Given the description of an element on the screen output the (x, y) to click on. 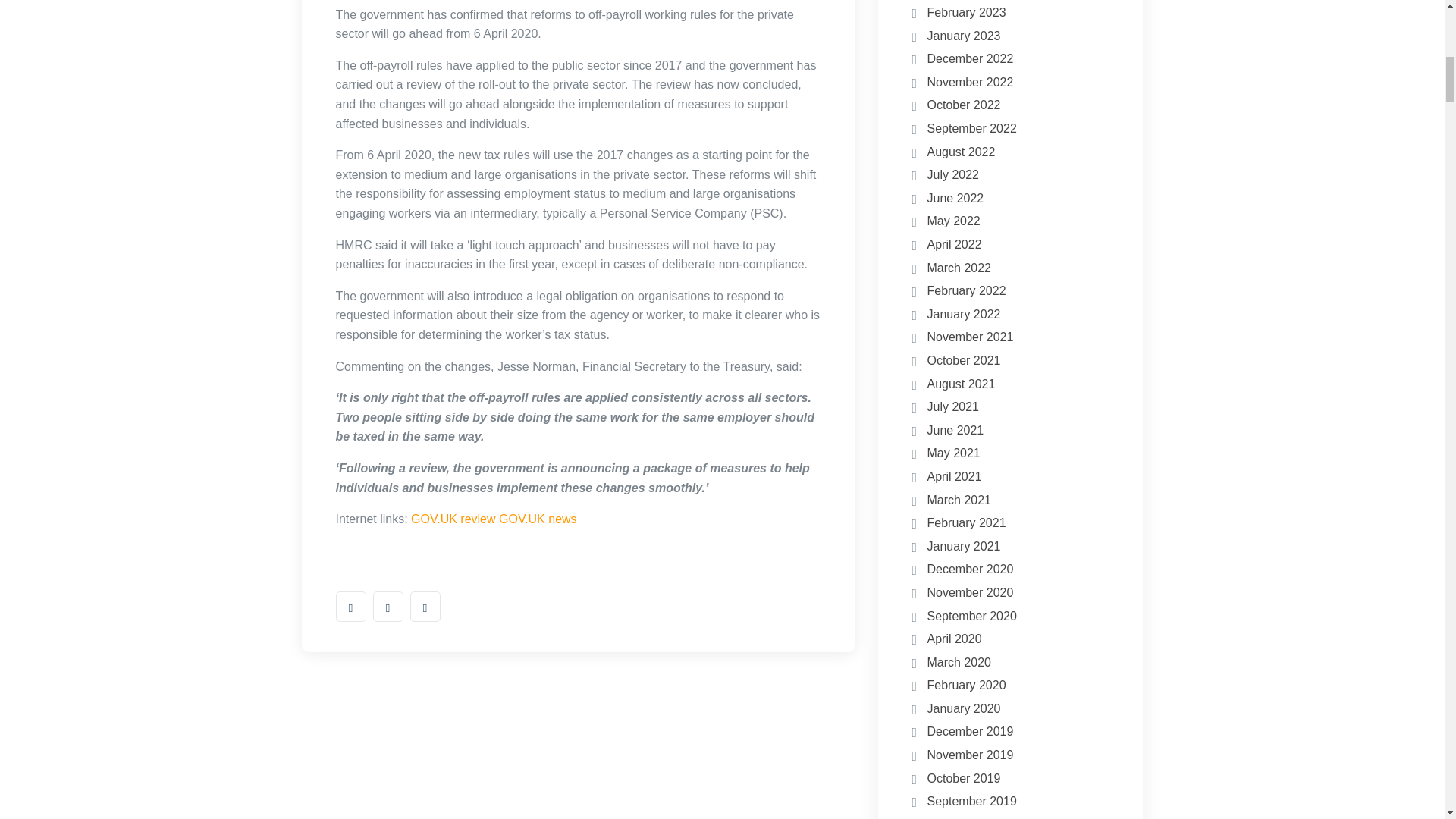
GOV.UK review (452, 518)
Facebook (349, 606)
Twitter (387, 606)
GOV.UK news (537, 518)
Linkedin (424, 606)
